Given the description of an element on the screen output the (x, y) to click on. 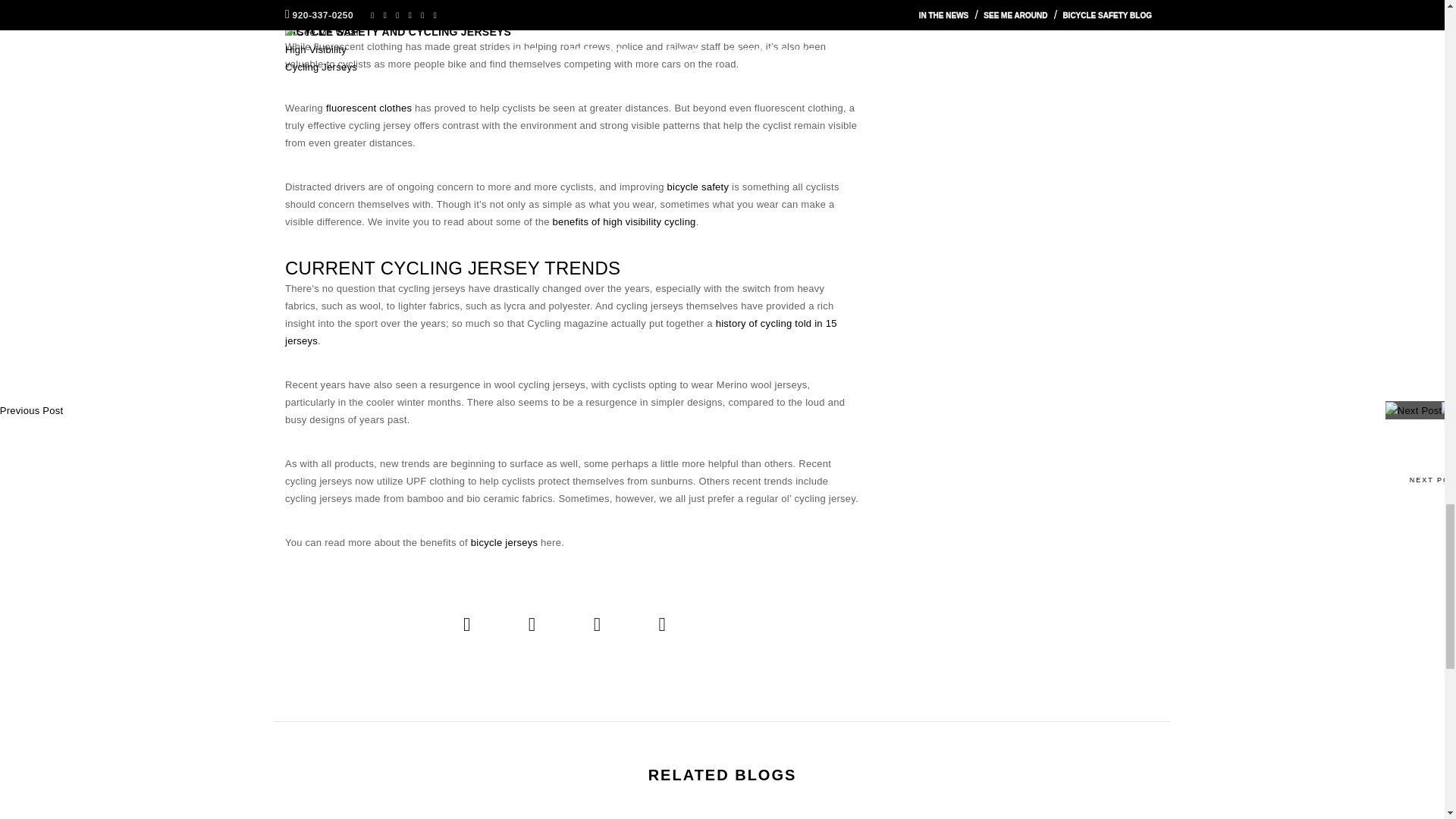
bicycle safety (697, 186)
history of cycling told in 15 jerseys (561, 331)
fluorescent clothes (369, 107)
benefits of high visibility cycling (624, 221)
bicycle jerseys (503, 542)
